Given the description of an element on the screen output the (x, y) to click on. 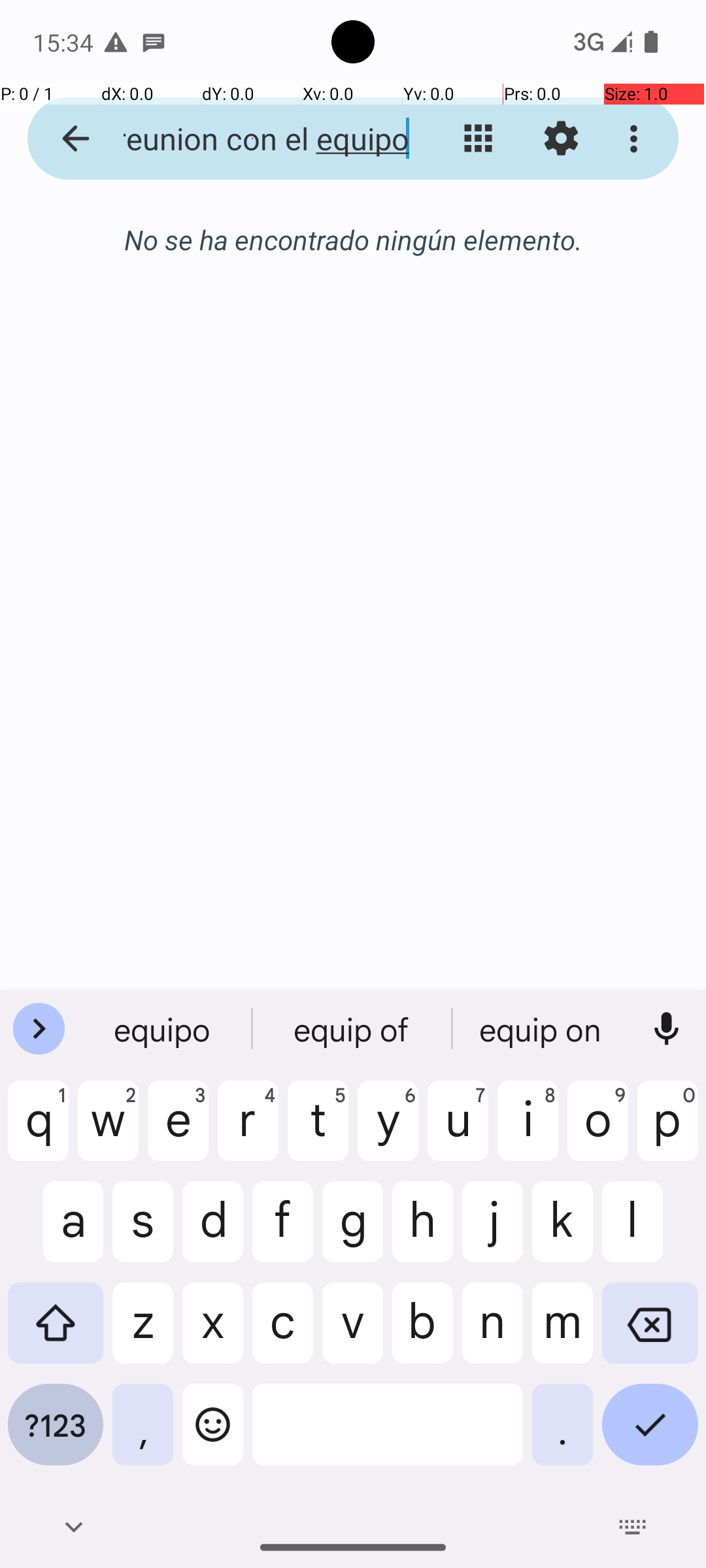
reunion con el equipo Element type: android.widget.EditText (252, 138)
No se ha encontrado ningún elemento. Element type: android.widget.TextView (353, 239)
equipo Element type: android.widget.FrameLayout (163, 1028)
equipment Element type: android.widget.FrameLayout (541, 1028)
